Given the description of an element on the screen output the (x, y) to click on. 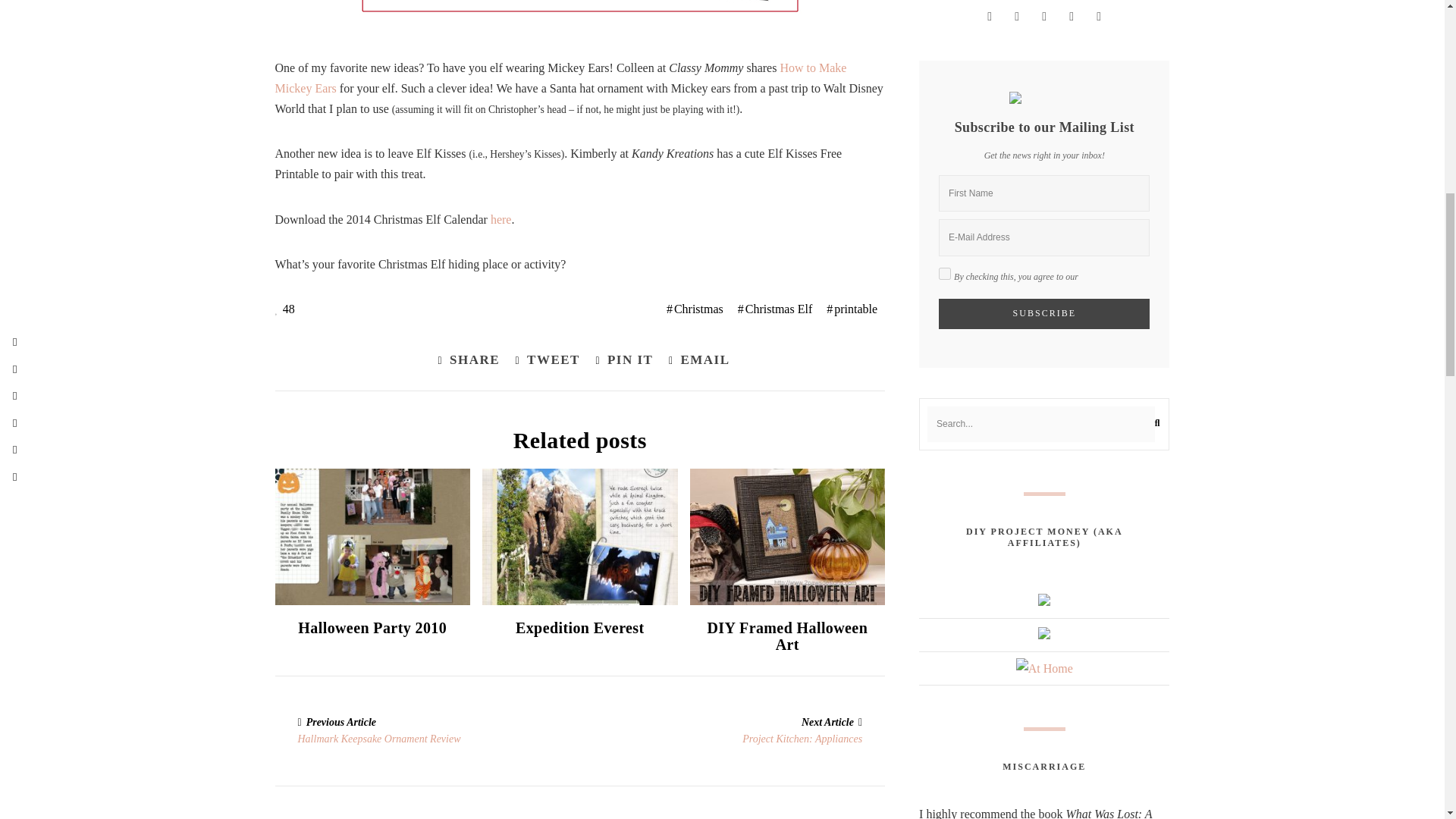
Share on Facebook (464, 360)
on (944, 273)
Share on Pinterest (620, 360)
Share on Twitter (542, 360)
Subscribe (1044, 313)
Like (284, 308)
Share on email (695, 360)
